Given the description of an element on the screen output the (x, y) to click on. 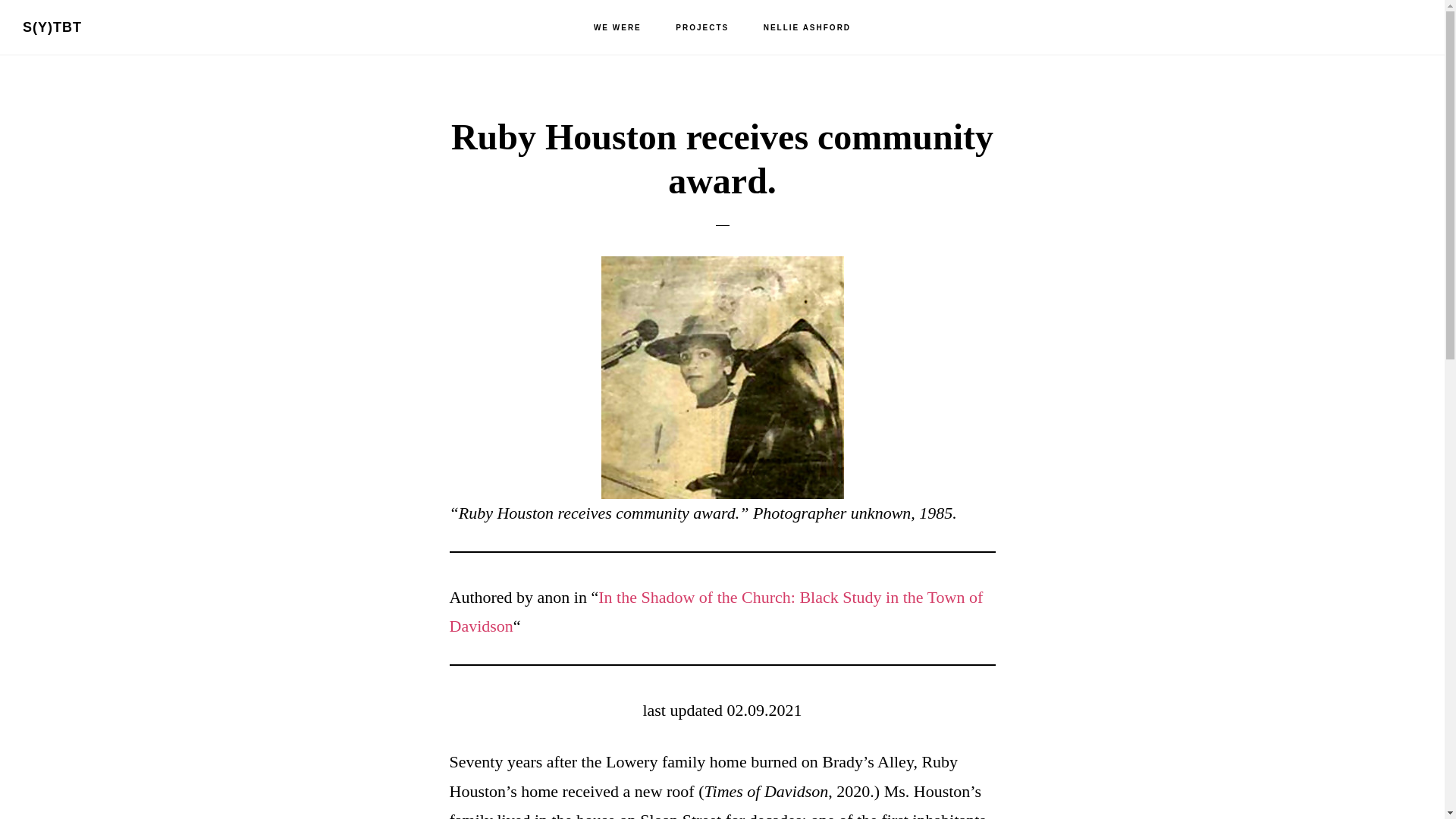
WE WERE (617, 27)
NELLIE ASHFORD (807, 27)
PROJECTS (702, 27)
